Given the description of an element on the screen output the (x, y) to click on. 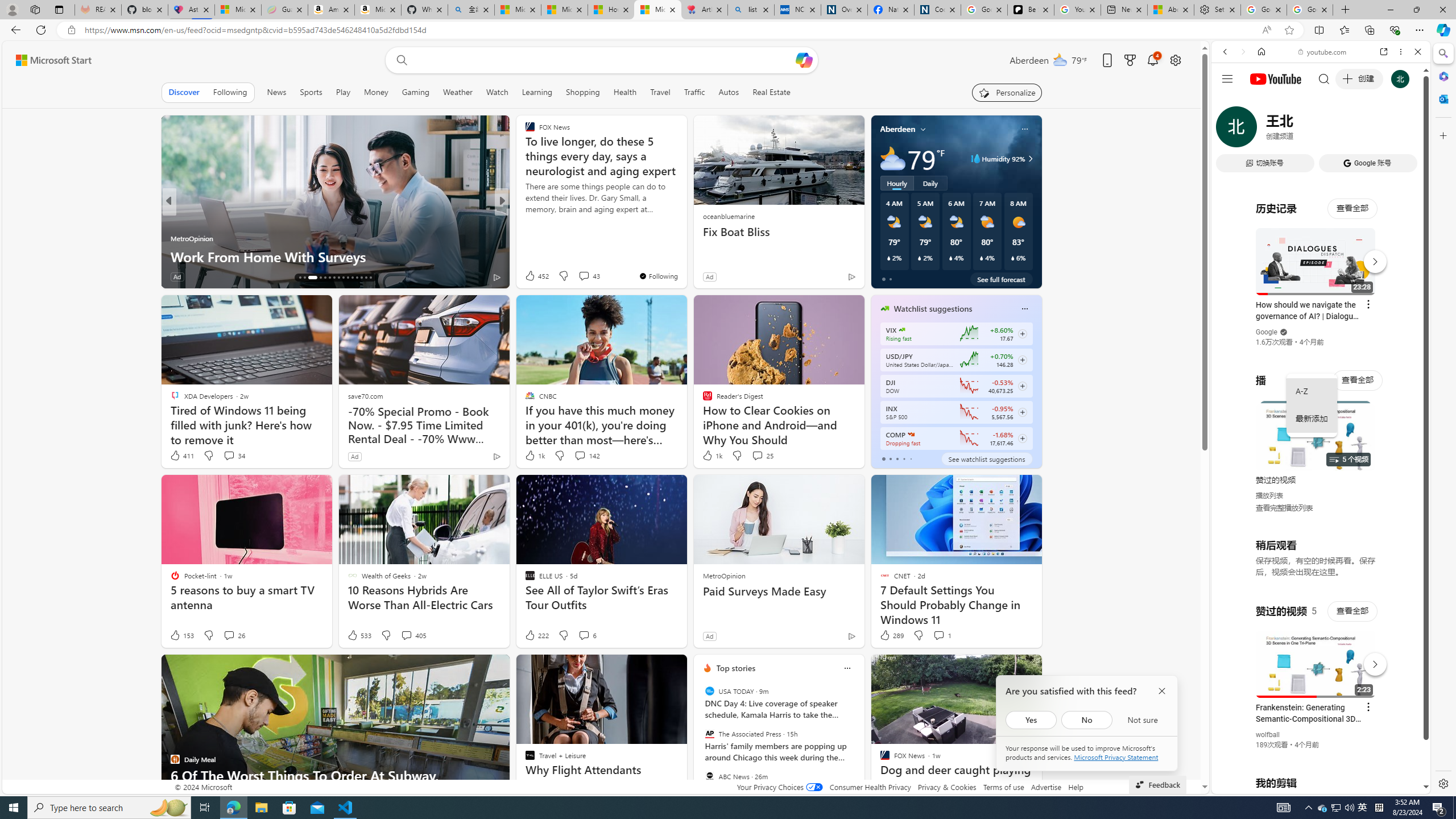
AutomationID: tab-25 (347, 277)
HowToGeek (524, 219)
Fix Boat Bliss (778, 232)
Privacy & Cookies (946, 786)
The Cool Down (524, 219)
News (277, 92)
Money (375, 92)
View comments 89 Comment (229, 276)
View comments 405 Comment (406, 635)
AutomationID: tab-24 (343, 277)
Hourly (896, 183)
Open Copilot (803, 59)
